Given the description of an element on the screen output the (x, y) to click on. 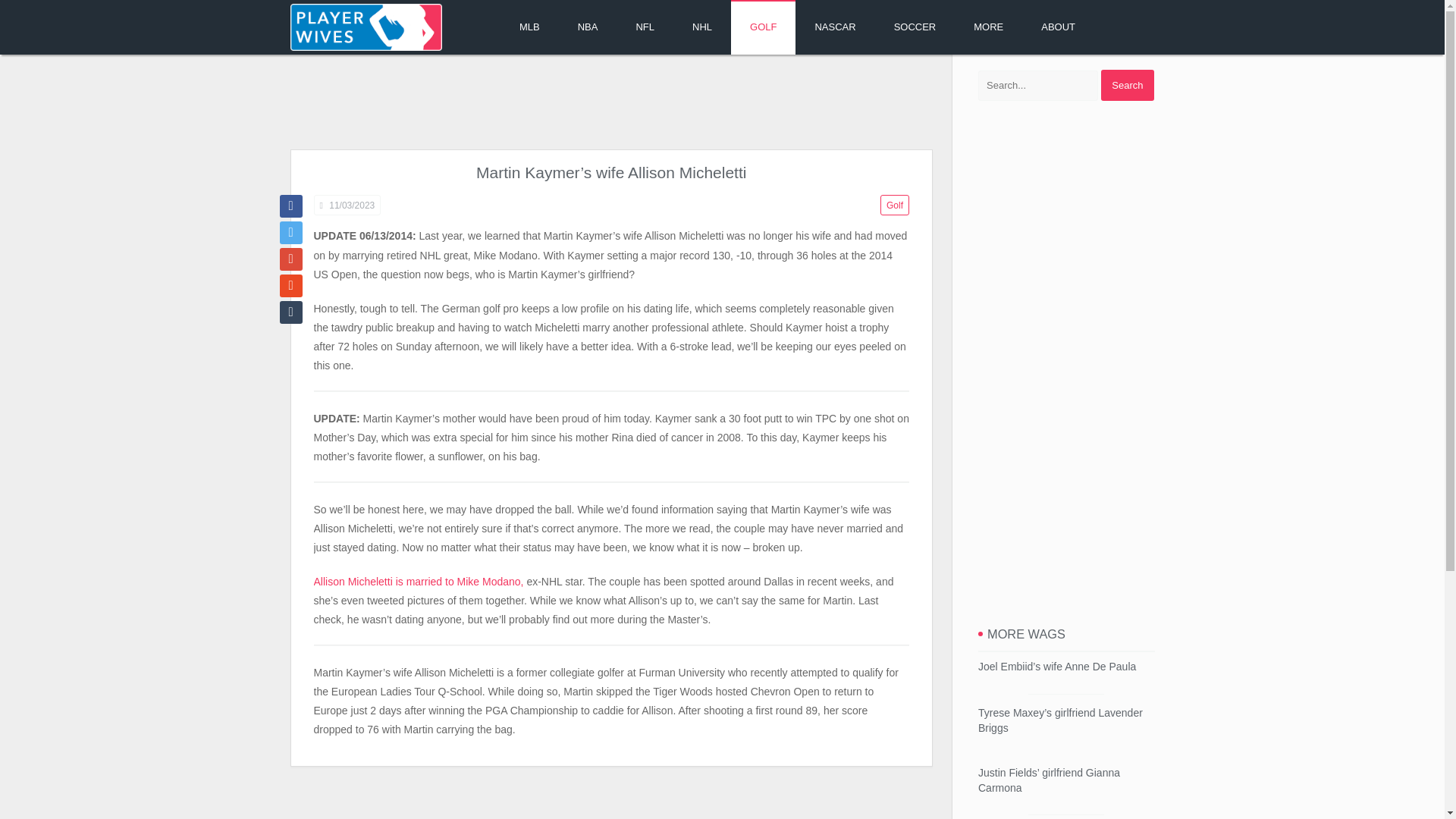
MORE (988, 27)
Advertisement (610, 103)
NFL (643, 27)
search (1127, 84)
About PlayerWives.com (1058, 27)
MLB (529, 27)
Soccer Wives (915, 27)
NHL (701, 27)
NASCAR Wives (834, 27)
Golf (894, 204)
